Given the description of an element on the screen output the (x, y) to click on. 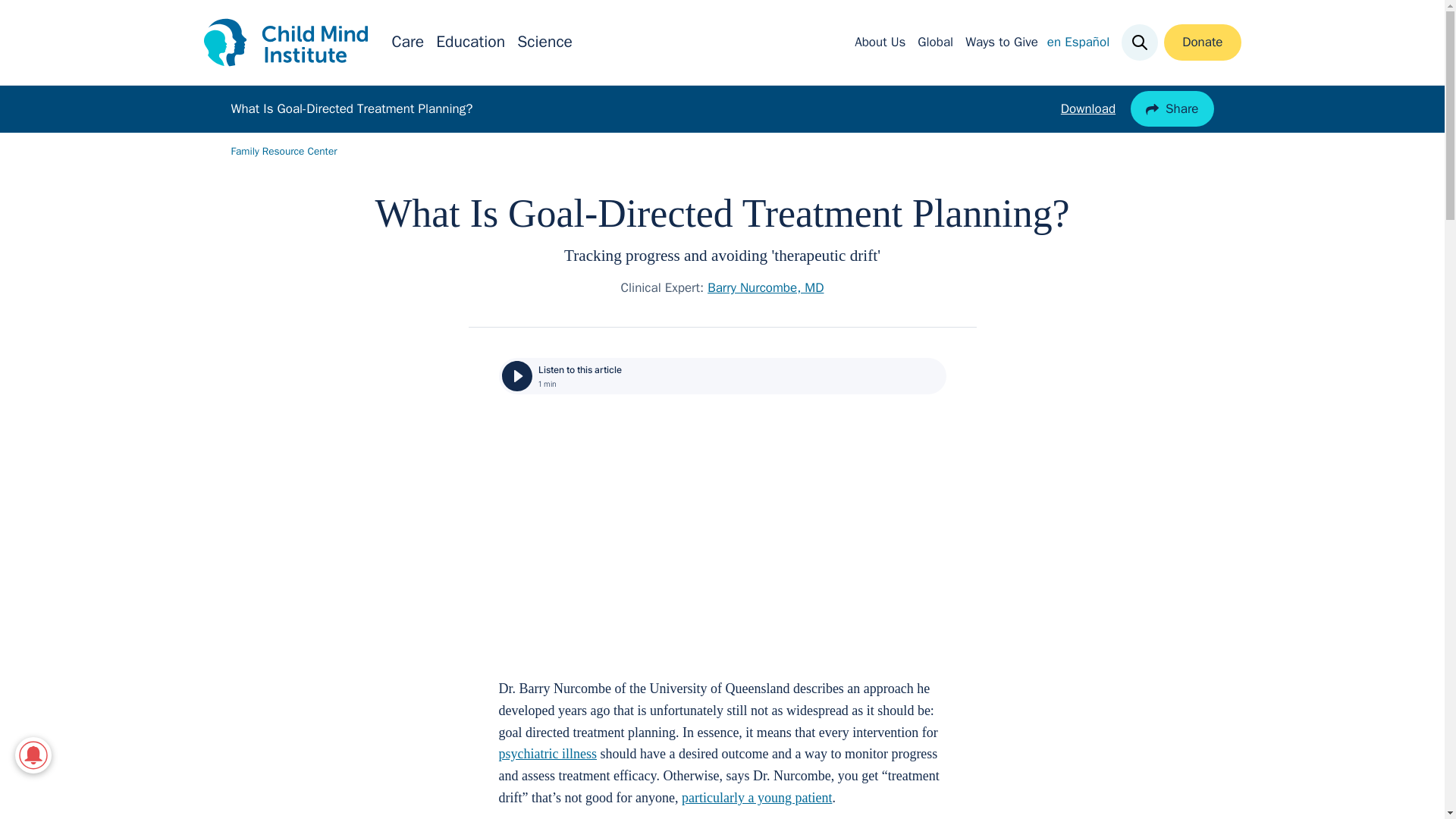
What Is Goal-Directed Treatment Planning for Mental Illness? (722, 533)
Care (407, 42)
Education (470, 42)
